Given the description of an element on the screen output the (x, y) to click on. 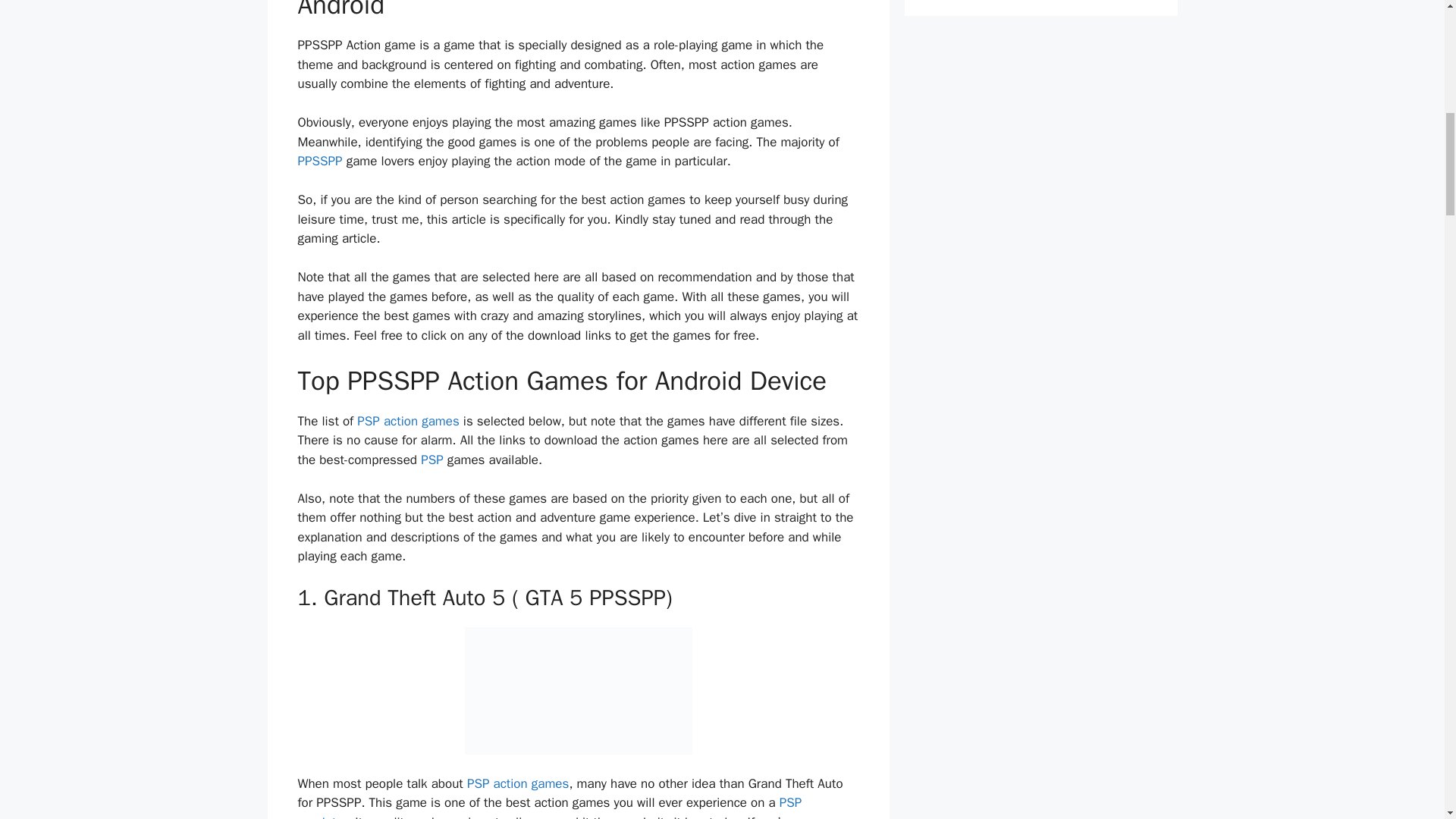
PSP emulator (549, 806)
PSP action games (518, 783)
PPSSPP (319, 160)
PSP action games (407, 421)
PSP (432, 459)
